Given the description of an element on the screen output the (x, y) to click on. 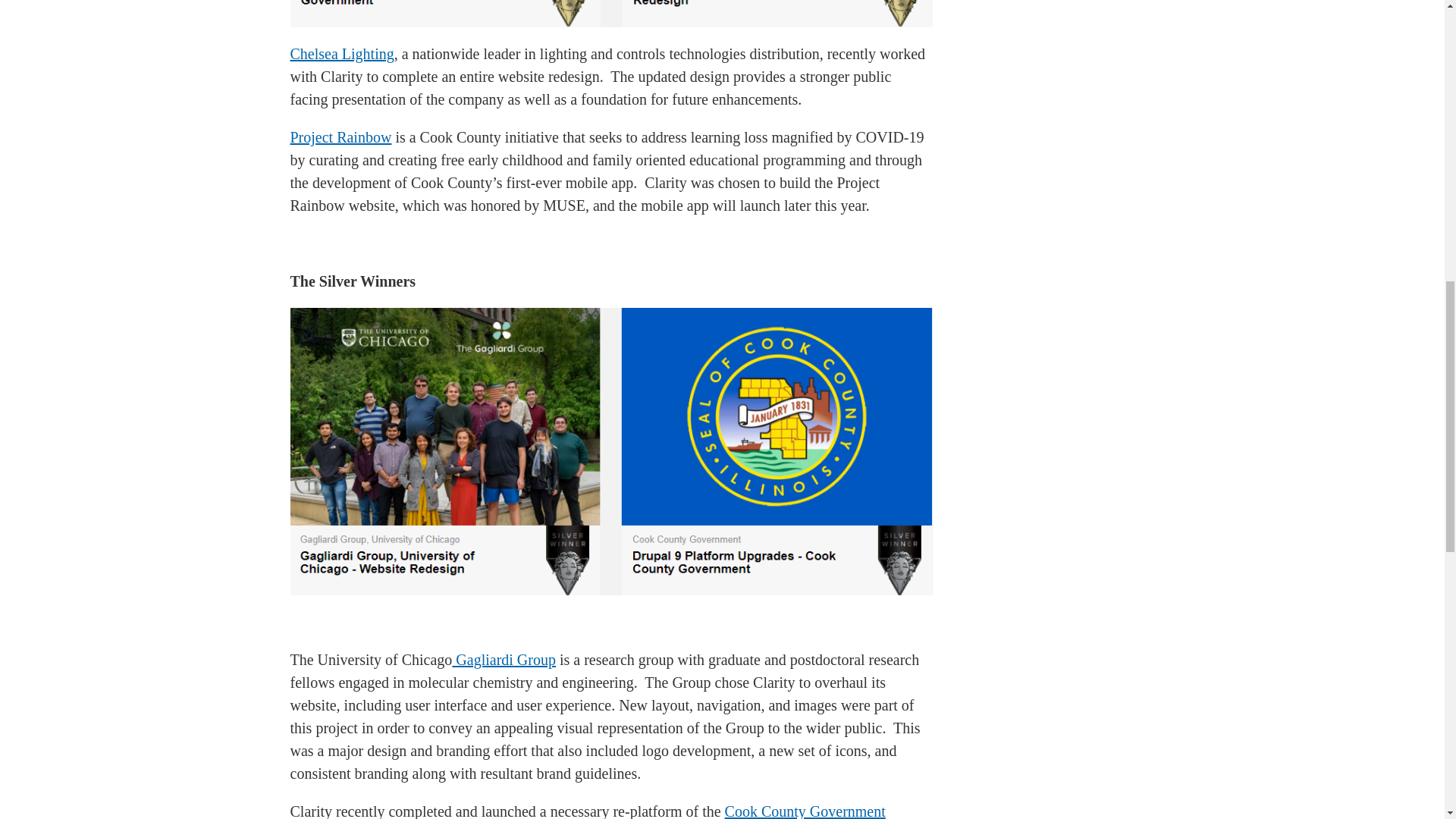
Project Rainbow (340, 136)
Chelsea Lighting (341, 53)
Cook County Government (805, 811)
Gagliardi Group (503, 659)
